Given the description of an element on the screen output the (x, y) to click on. 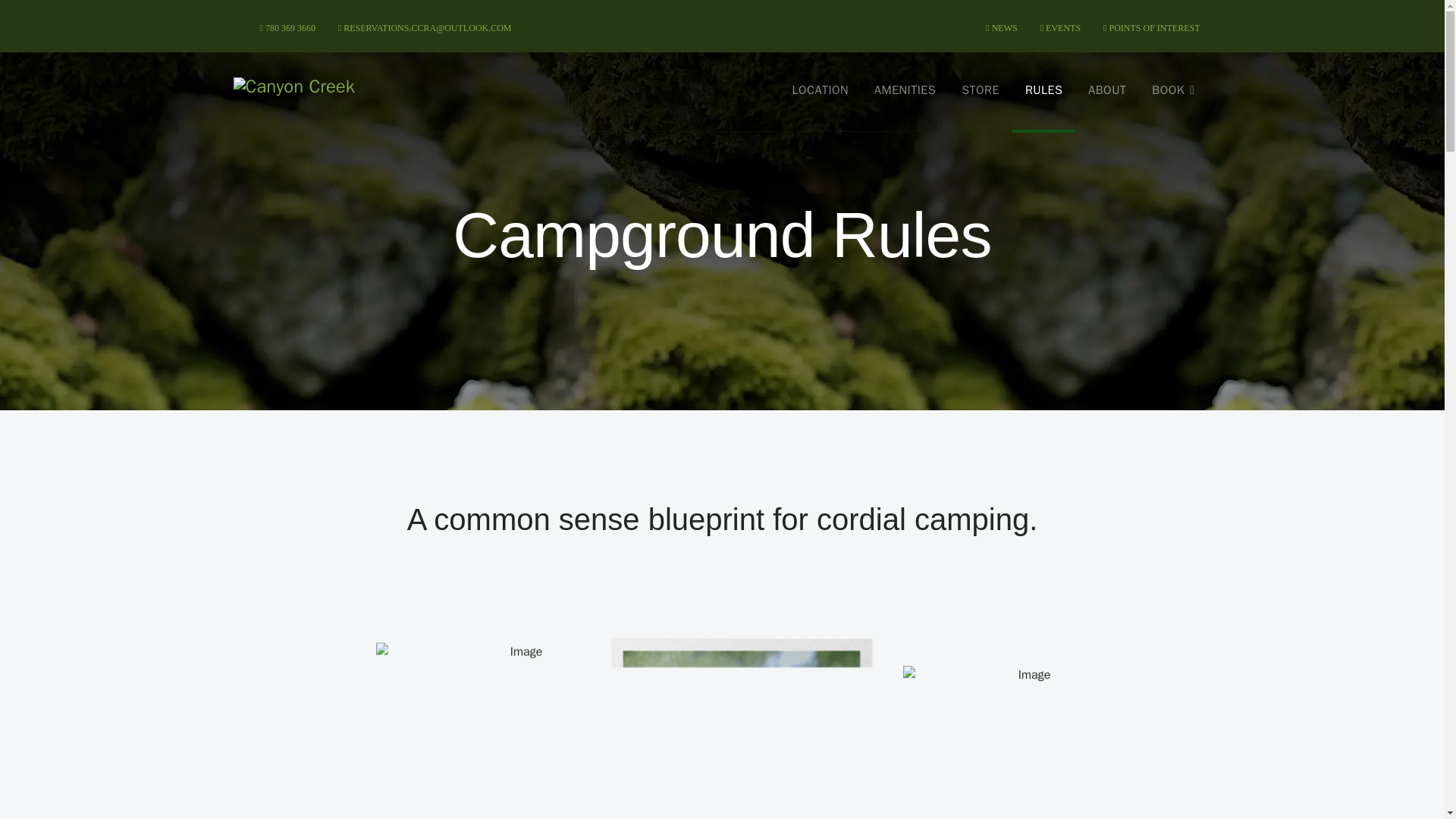
BOOK (1172, 89)
EVENTS (1060, 27)
LOCATION (819, 89)
AMENITIES (905, 89)
POINTS OF INTEREST (1151, 27)
780 369 3660 (287, 27)
NEWS (1000, 27)
